Given the description of an element on the screen output the (x, y) to click on. 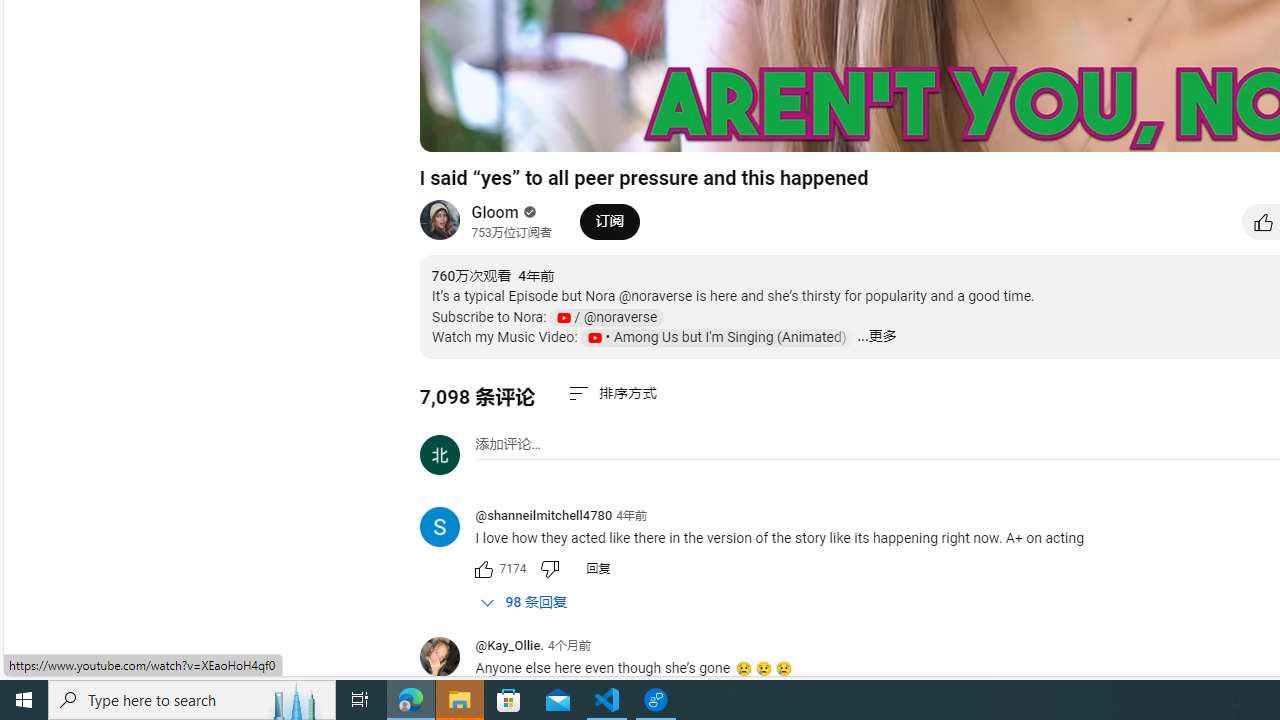
@Kay_Ollie. (447, 658)
@shanneilmitchell4780 (543, 516)
Gloom (495, 211)
AutomationID: simplebox-placeholder (507, 444)
